Given the description of an element on the screen output the (x, y) to click on. 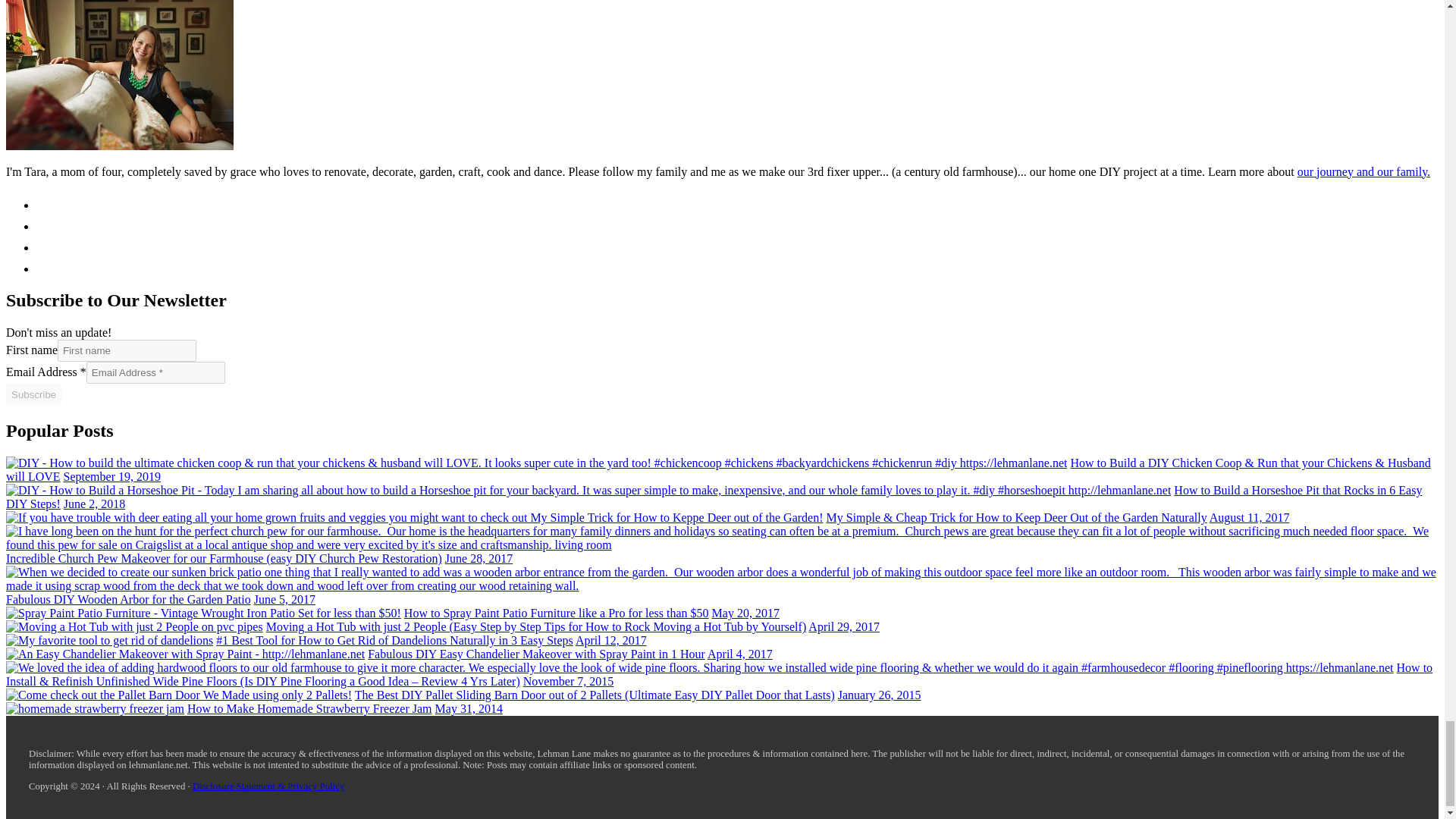
Subscribe (33, 394)
First name (127, 350)
Email Address (155, 372)
